Given the description of an element on the screen output the (x, y) to click on. 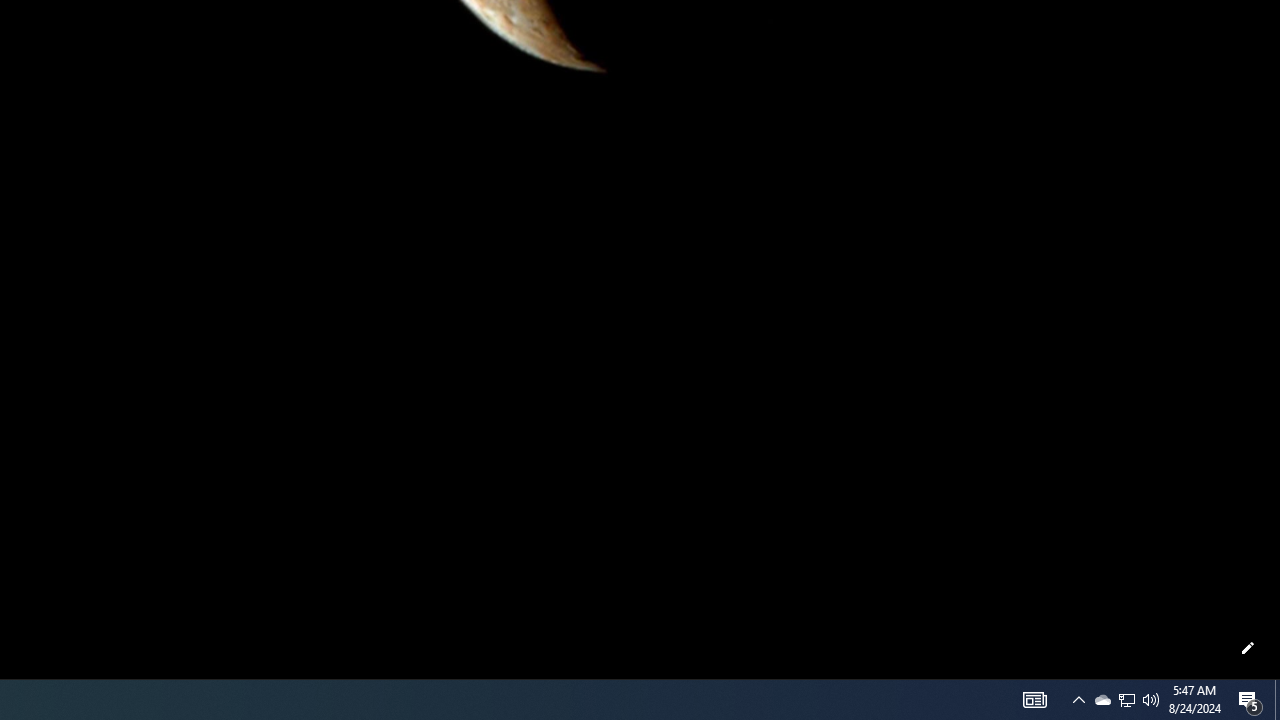
Customize this page (1247, 647)
